Given the description of an element on the screen output the (x, y) to click on. 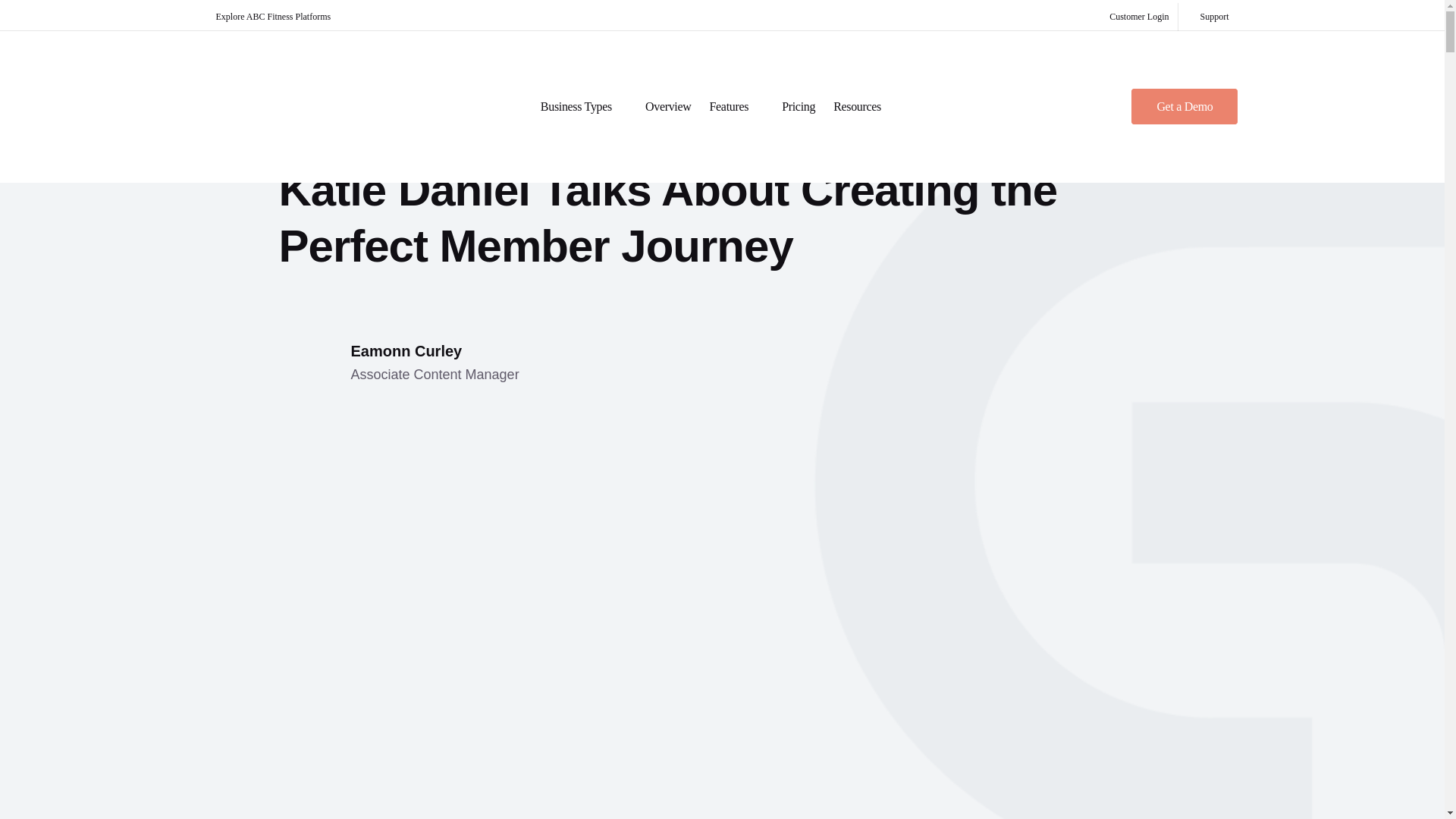
Business Types (583, 105)
Get a Demo (1184, 105)
Resources (864, 105)
Features (737, 105)
Explore ABC Fitness Platforms (279, 15)
Customer Login (399, 363)
Overview (1138, 17)
Back to Podcast (668, 105)
Support (344, 130)
Pricing (1214, 17)
